Given the description of an element on the screen output the (x, y) to click on. 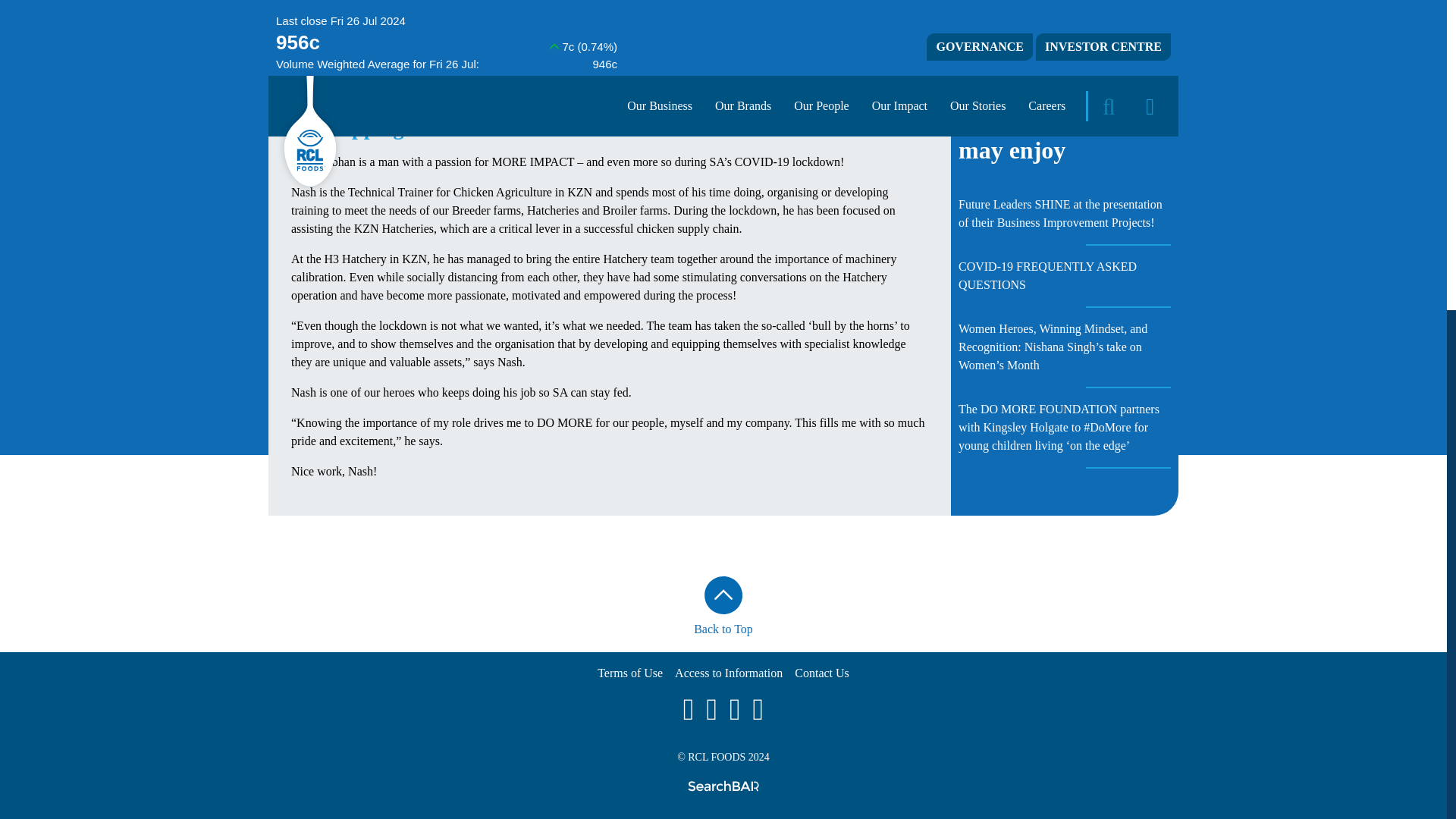
Back to Top (723, 607)
